Given the description of an element on the screen output the (x, y) to click on. 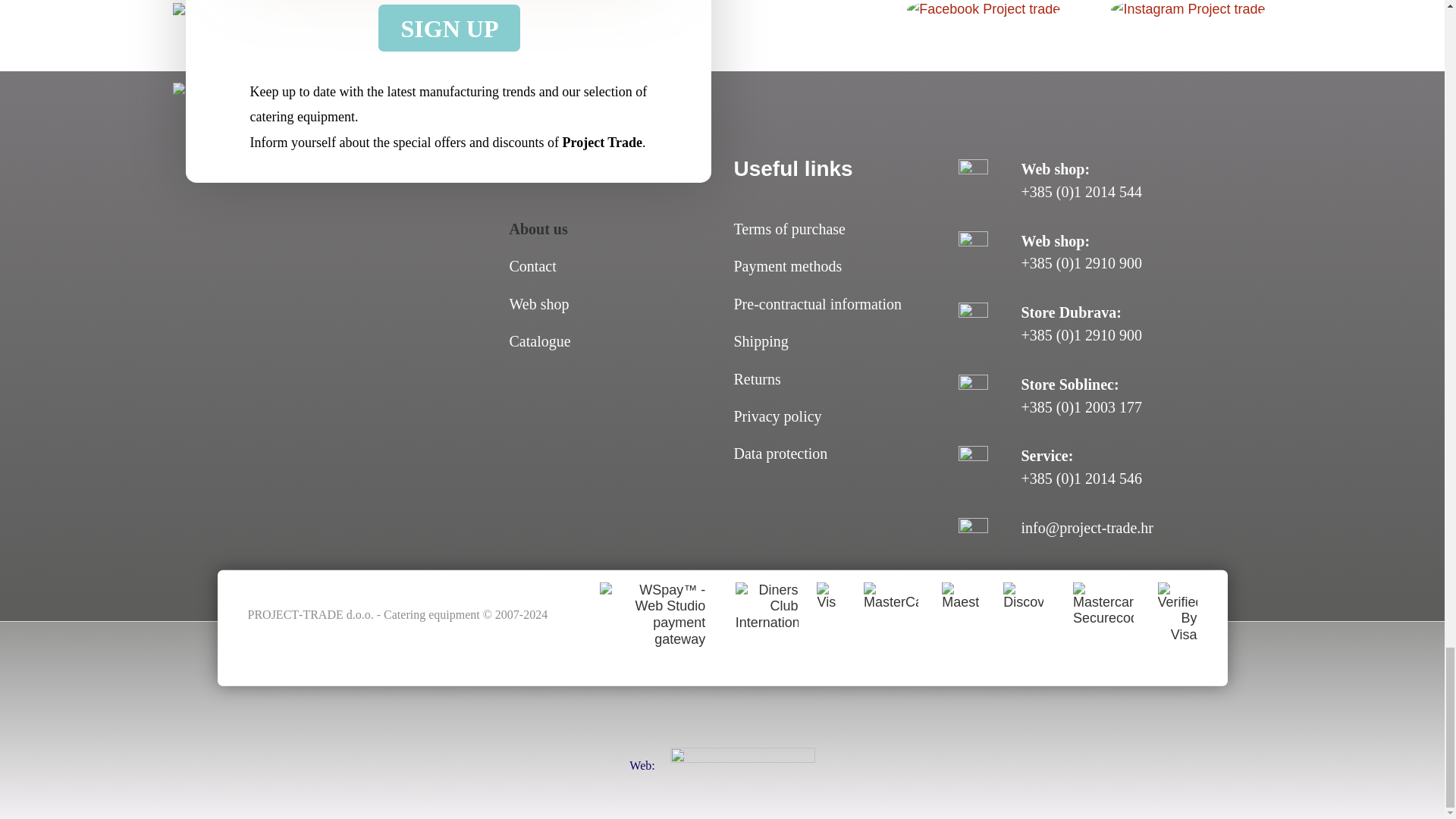
Sign up (448, 27)
Diners Club International (750, 614)
MasterCard (876, 614)
Facebook Project trade (983, 7)
Discover (1010, 614)
Instagram Project trade (1187, 7)
Maestro (948, 614)
